Given the description of an element on the screen output the (x, y) to click on. 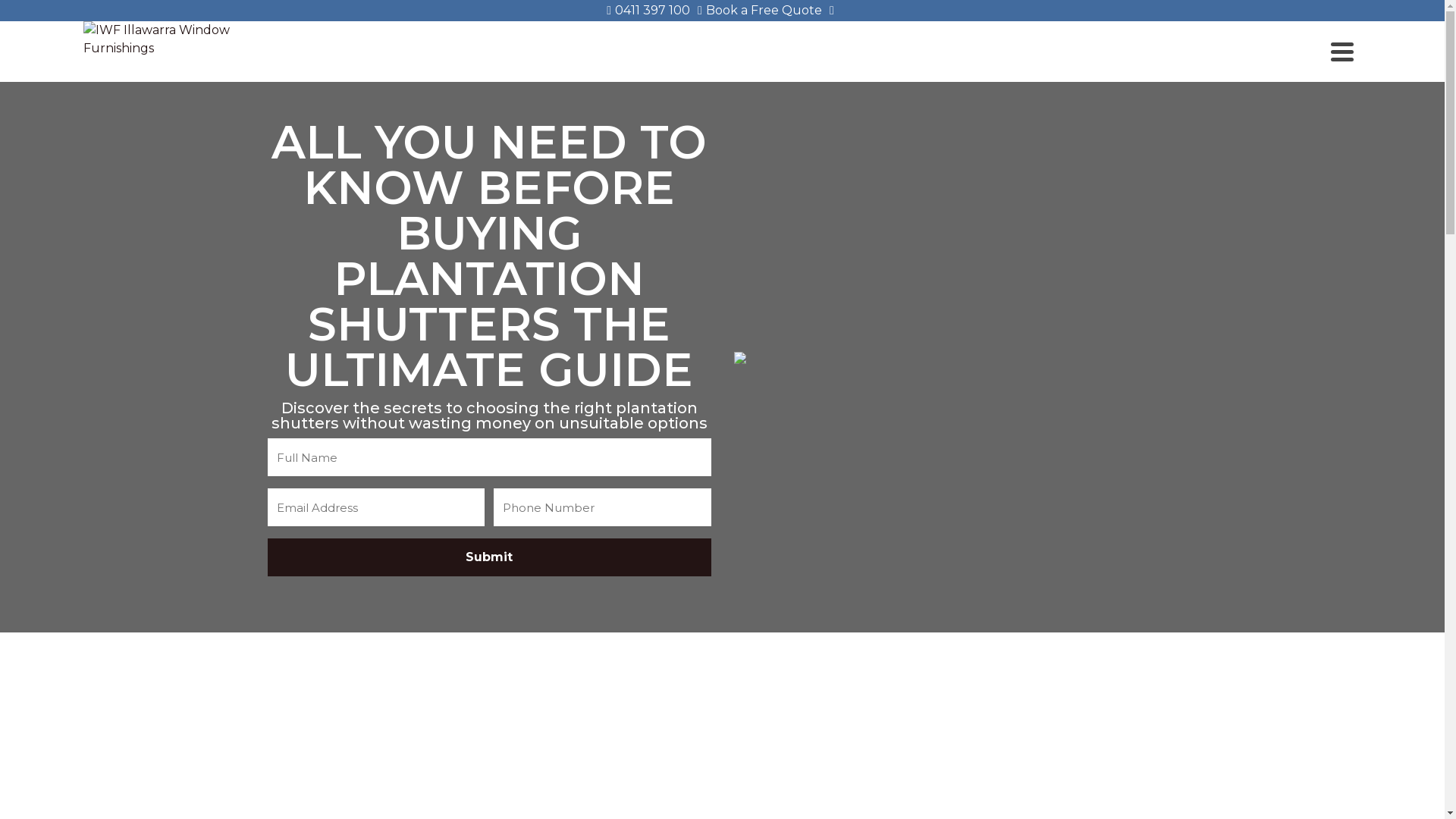
Book a Free Quote Element type: text (759, 10)
Submit Element type: text (488, 557)
0411 397 100 Element type: text (647, 10)
